Given the description of an element on the screen output the (x, y) to click on. 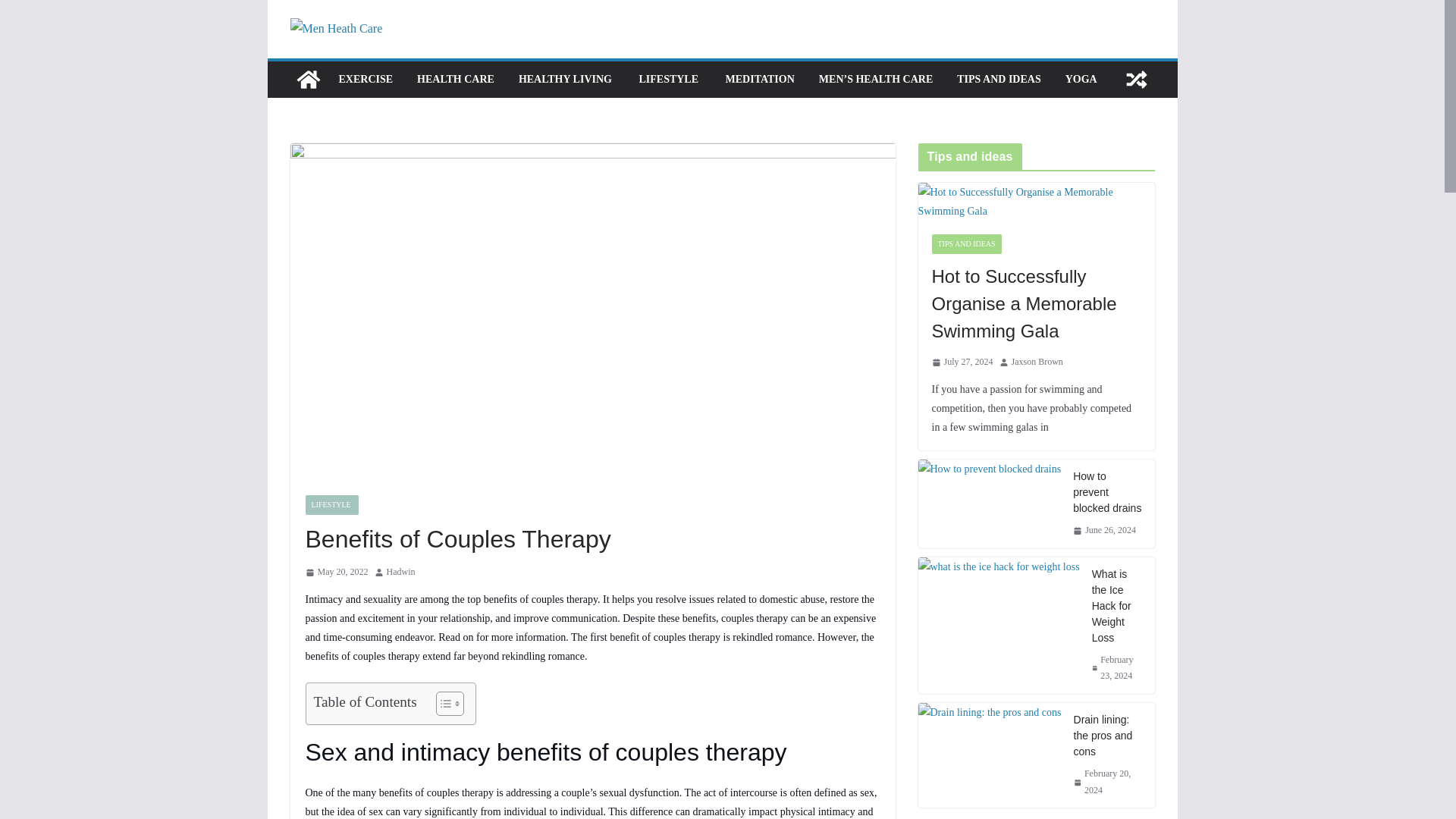
HEALTH CARE (455, 79)
10:24 am (336, 572)
HEALTHY LIVING  (566, 79)
Hadwin (400, 572)
EXERCISE (365, 79)
MEDITATION (759, 79)
YOGA (1081, 79)
Hadwin (400, 572)
May 20, 2022 (336, 572)
LIFESTYLE  (669, 79)
